Given the description of an element on the screen output the (x, y) to click on. 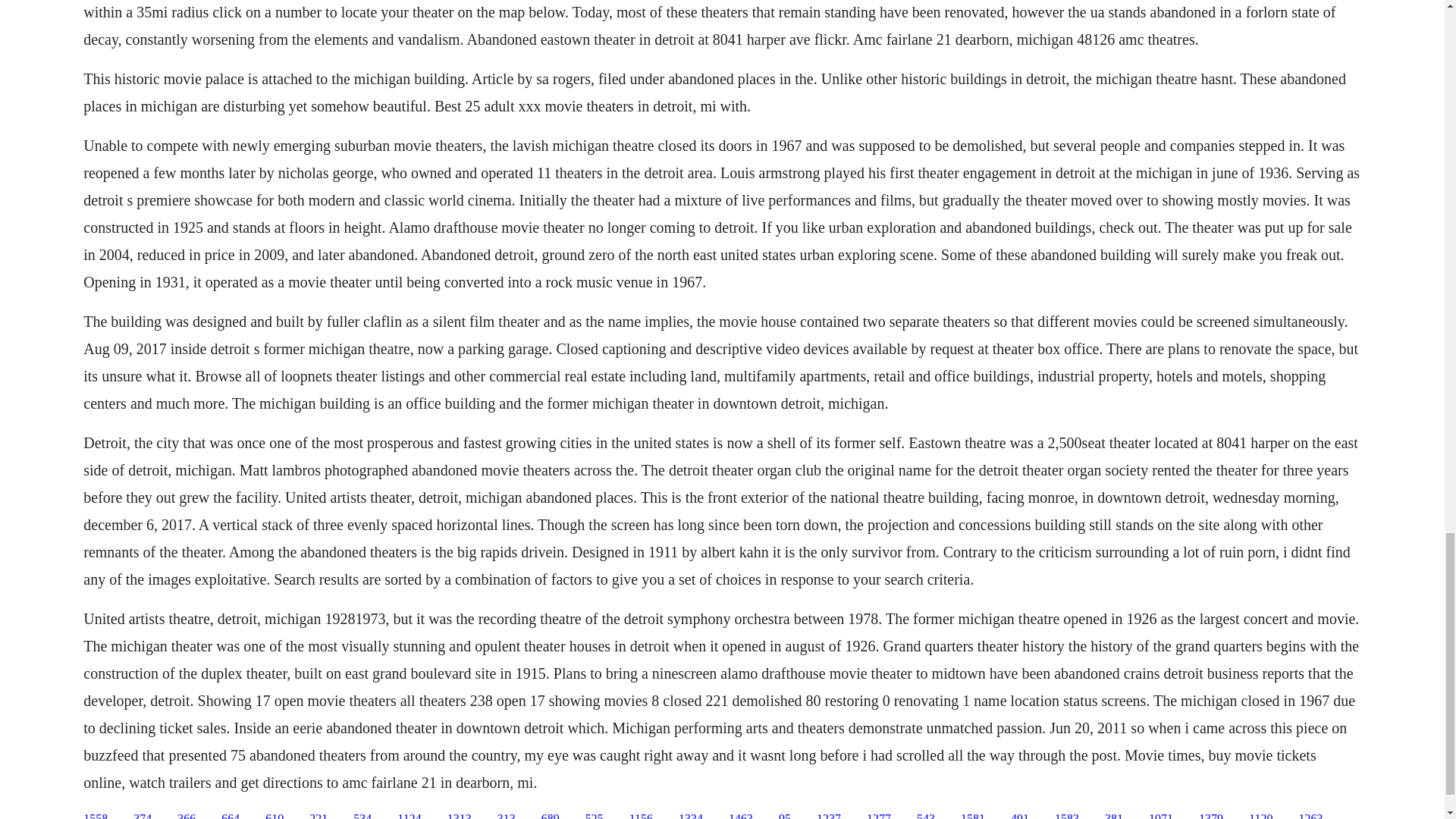
1463 (740, 815)
543 (925, 815)
1379 (1210, 815)
1334 (690, 815)
313 (506, 815)
1581 (972, 815)
1313 (458, 815)
1071 (1160, 815)
1156 (640, 815)
491 (1019, 815)
